Given the description of an element on the screen output the (x, y) to click on. 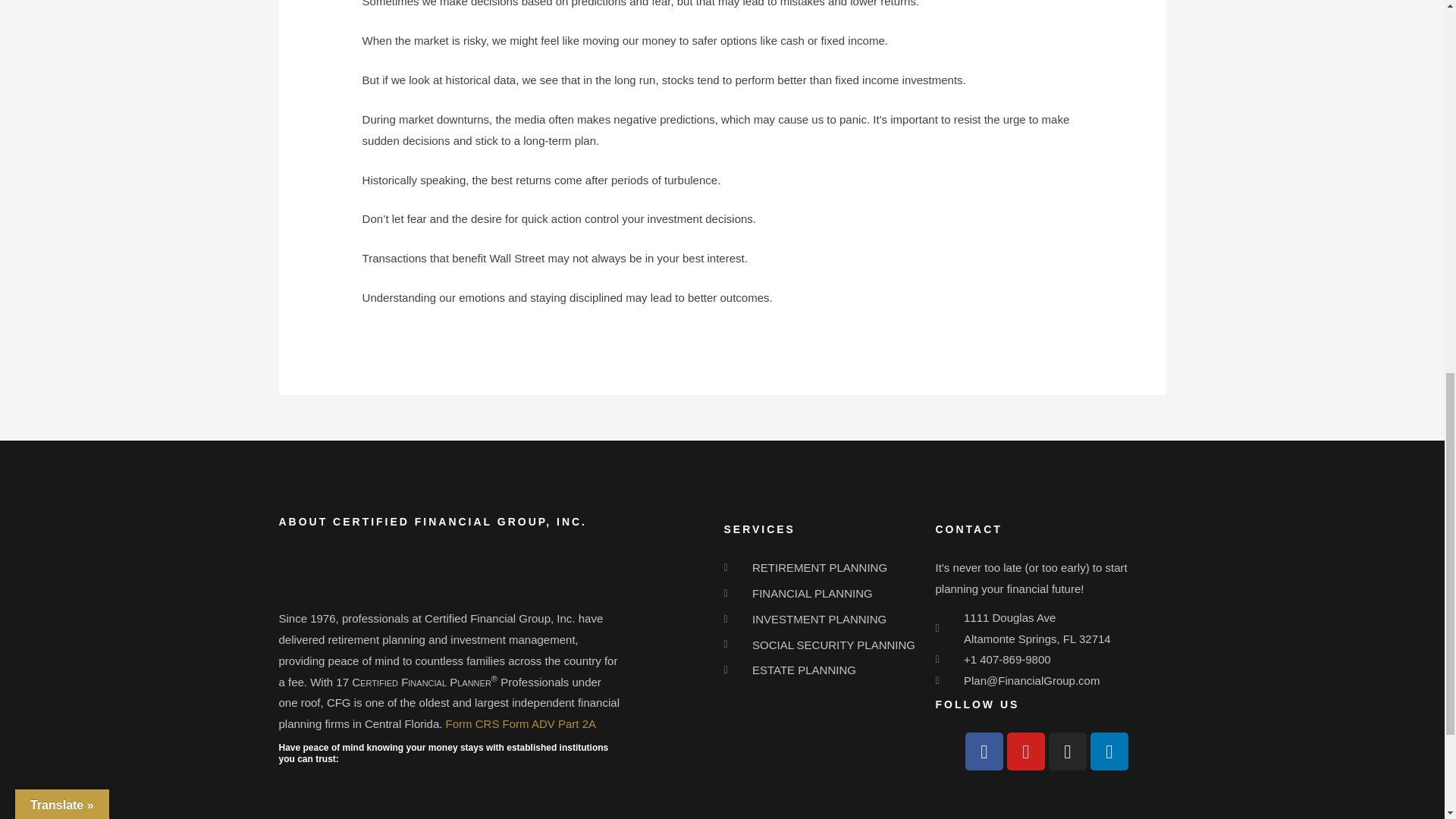
2020CFG-Logo (336, 574)
INVESTMENT PLANNING (821, 619)
Form CRS (472, 723)
RETIREMENT PLANNING (821, 567)
Form ADV Part 2A (548, 723)
FINANCIAL PLANNING (821, 593)
